Given the description of an element on the screen output the (x, y) to click on. 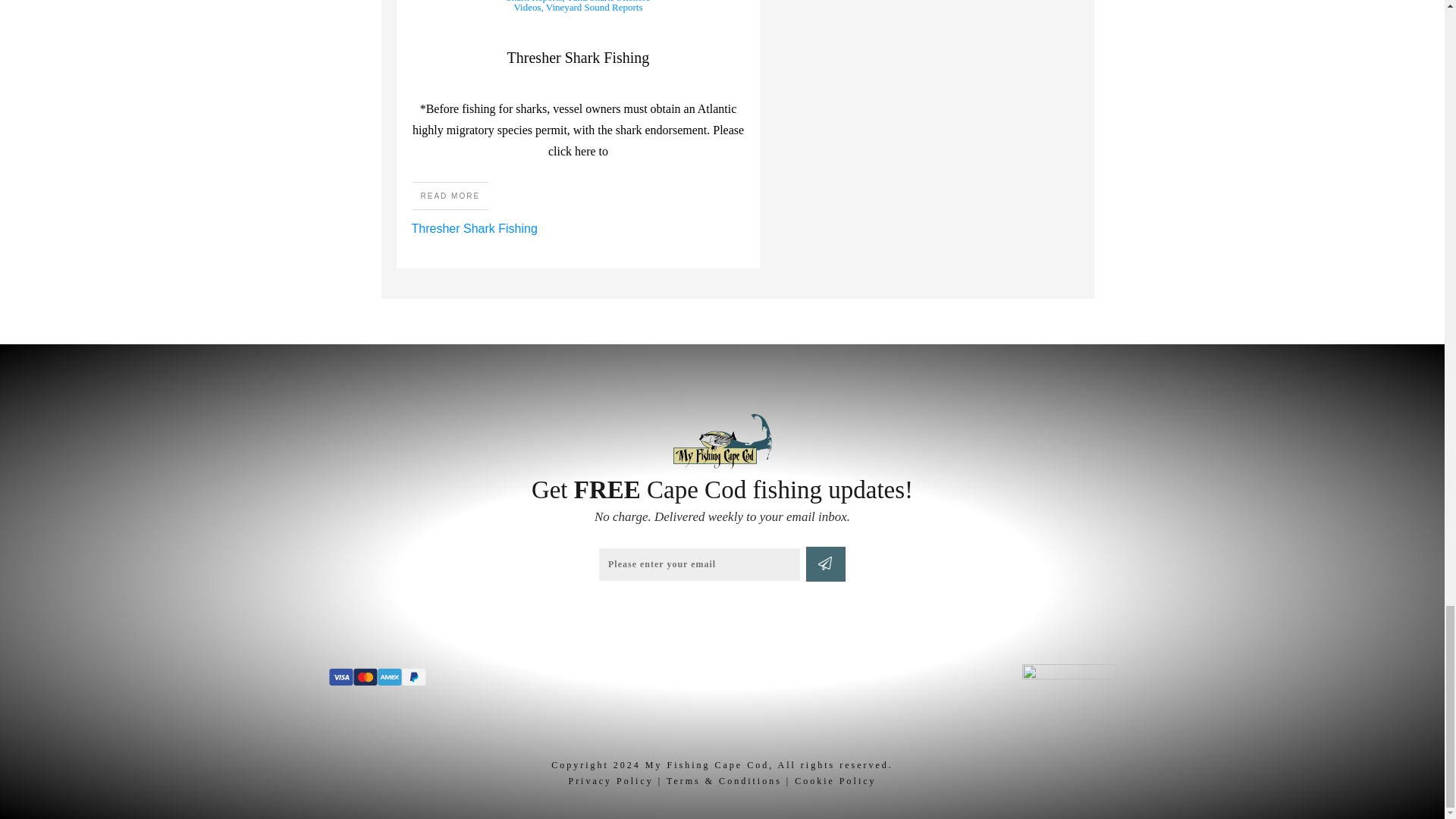
Vineyard Sound Reports (594, 7)
Thresher Shark Fishing (577, 57)
Shark Reports (533, 1)
